Given the description of an element on the screen output the (x, y) to click on. 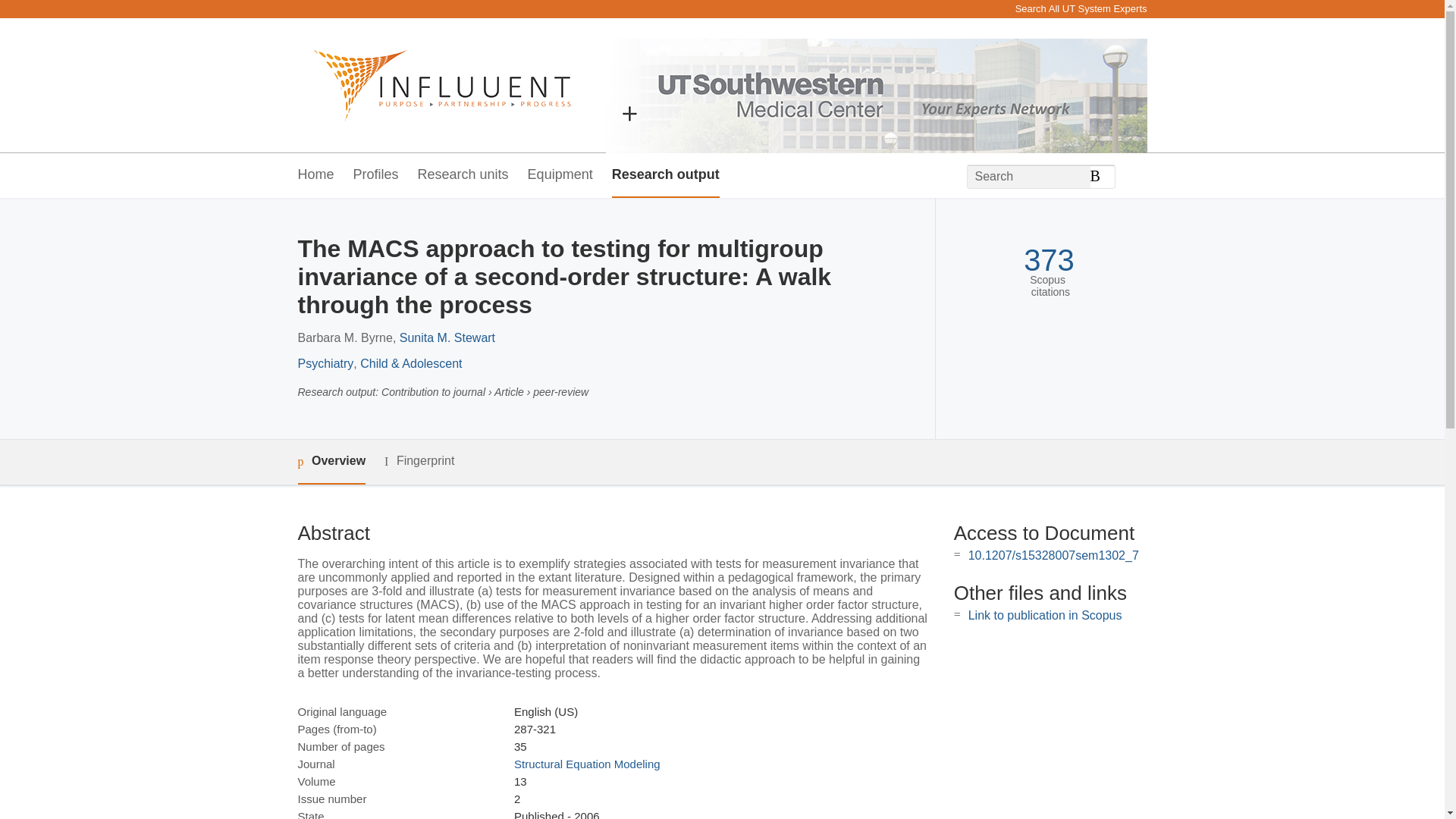
Overview (331, 461)
University of Texas Southwestern Medical Center Home (434, 85)
Fingerprint (419, 461)
Structural Equation Modeling (587, 763)
Profiles (375, 175)
Sunita M. Stewart (446, 337)
Psychiatry (325, 363)
373 (1048, 260)
Link to publication in Scopus (1045, 615)
Research units (462, 175)
Equipment (559, 175)
Research output (665, 175)
